Given the description of an element on the screen output the (x, y) to click on. 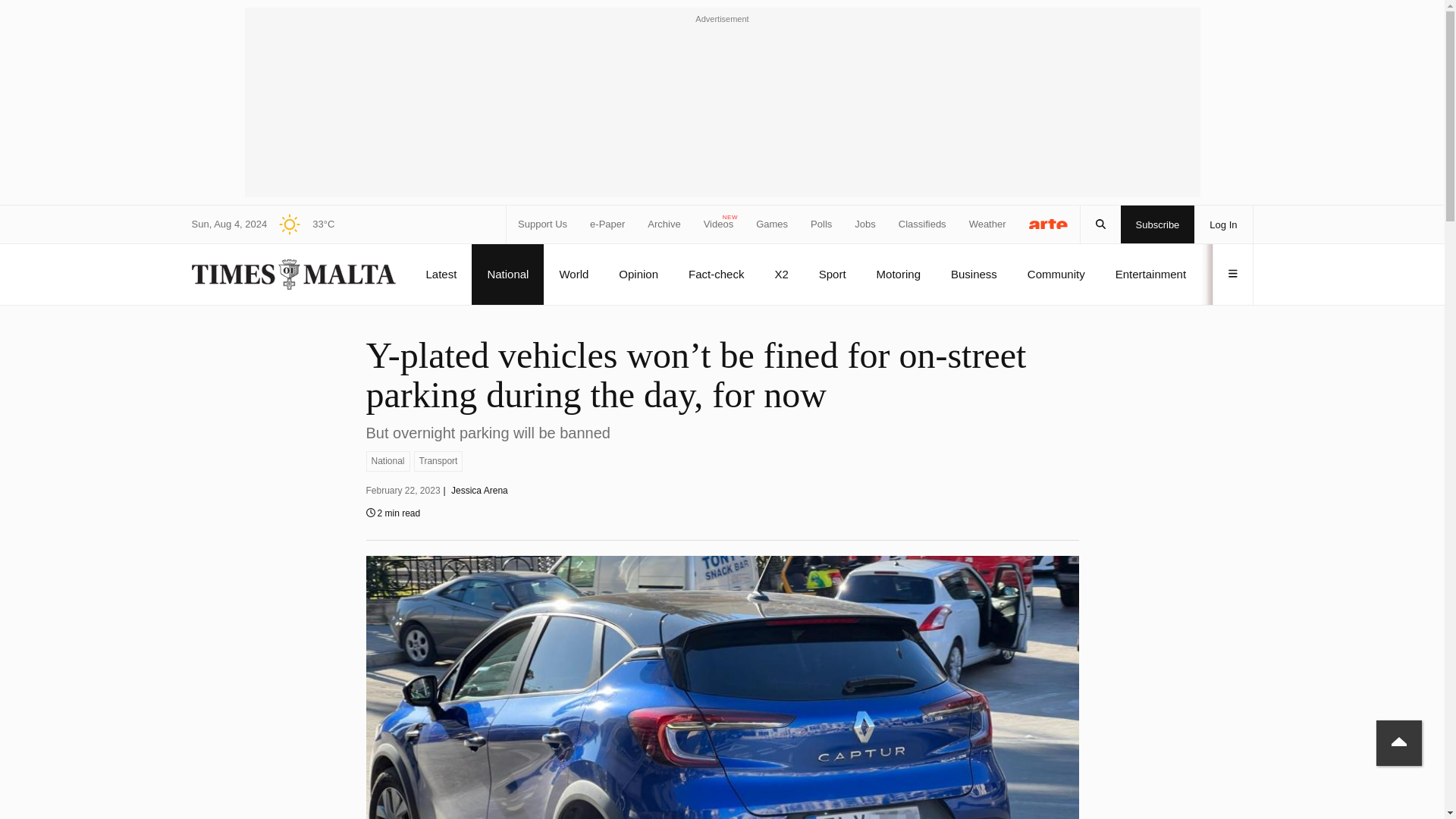
Transport (438, 461)
Community (1055, 274)
Classifieds (922, 224)
National (387, 461)
ARTE (1048, 223)
e-Paper (606, 224)
View more articles by Jessica Arena (479, 490)
Subscribe (1158, 224)
Weather (987, 224)
Jessica Arena (479, 490)
Entertainment (1150, 274)
Log In (1222, 224)
Fact-check (716, 274)
